Given the description of an element on the screen output the (x, y) to click on. 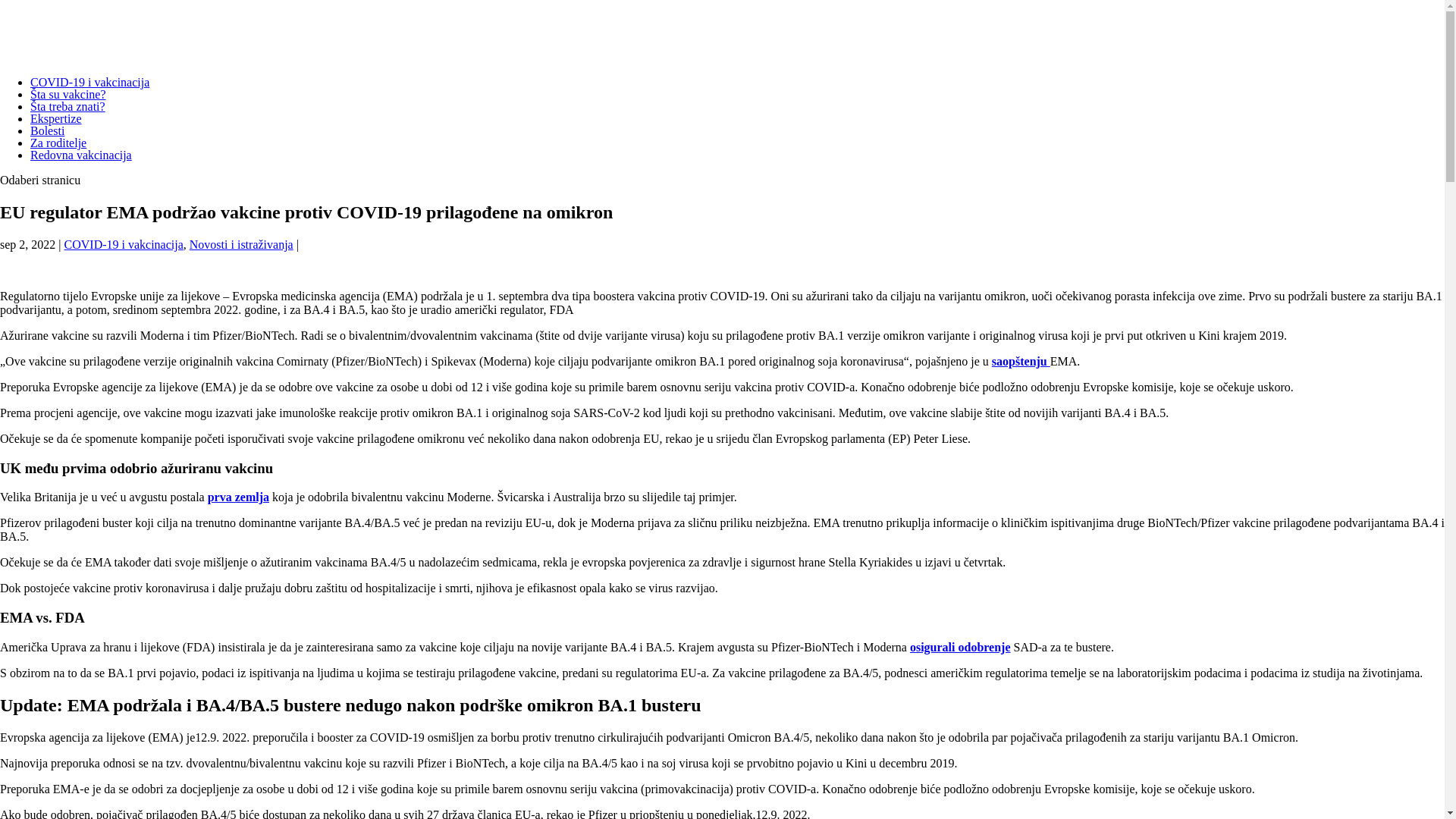
Ekspertize Element type: text (55, 118)
prva zemlja Element type: text (238, 496)
COVID-19 i vakcinacija Element type: text (89, 81)
osigurali odobrenje Element type: text (960, 646)
Za roditelje Element type: text (58, 142)
Bolesti Element type: text (47, 130)
COVID-19 i vakcinacija Element type: text (123, 244)
Redovna vakcinacija Element type: text (80, 154)
